Given the description of an element on the screen output the (x, y) to click on. 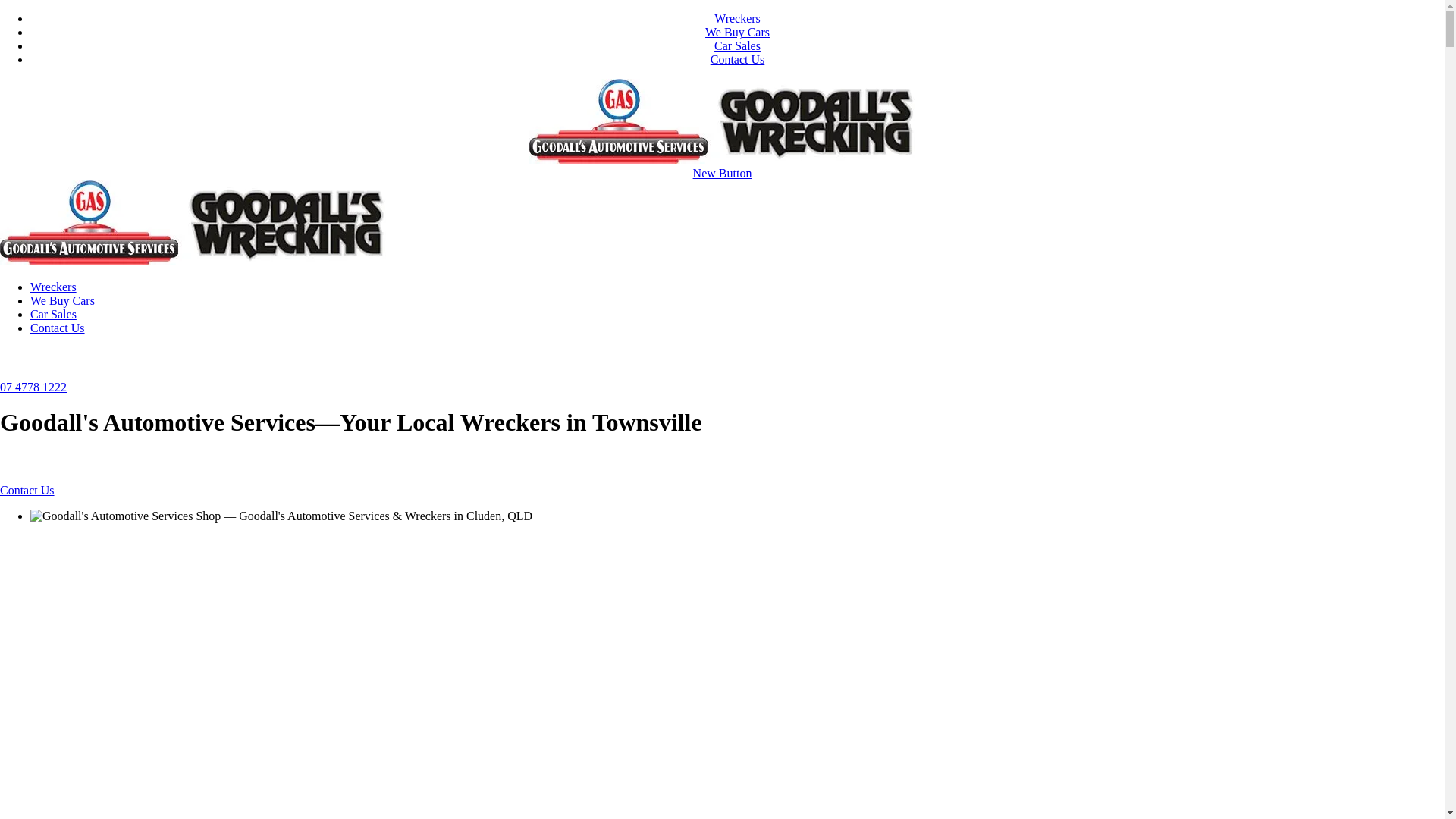
07 4778 1222 Element type: text (33, 386)
Car Sales Element type: text (53, 313)
Contact Us Element type: text (27, 489)
We Buy Cars Element type: text (737, 31)
Contact Us Element type: text (57, 327)
Contact Us Element type: text (737, 59)
We Buy Cars Element type: text (62, 300)
Car Sales Element type: text (737, 45)
Wreckers Element type: text (737, 18)
New Button Element type: text (722, 172)
Wreckers Element type: text (53, 286)
